Given the description of an element on the screen output the (x, y) to click on. 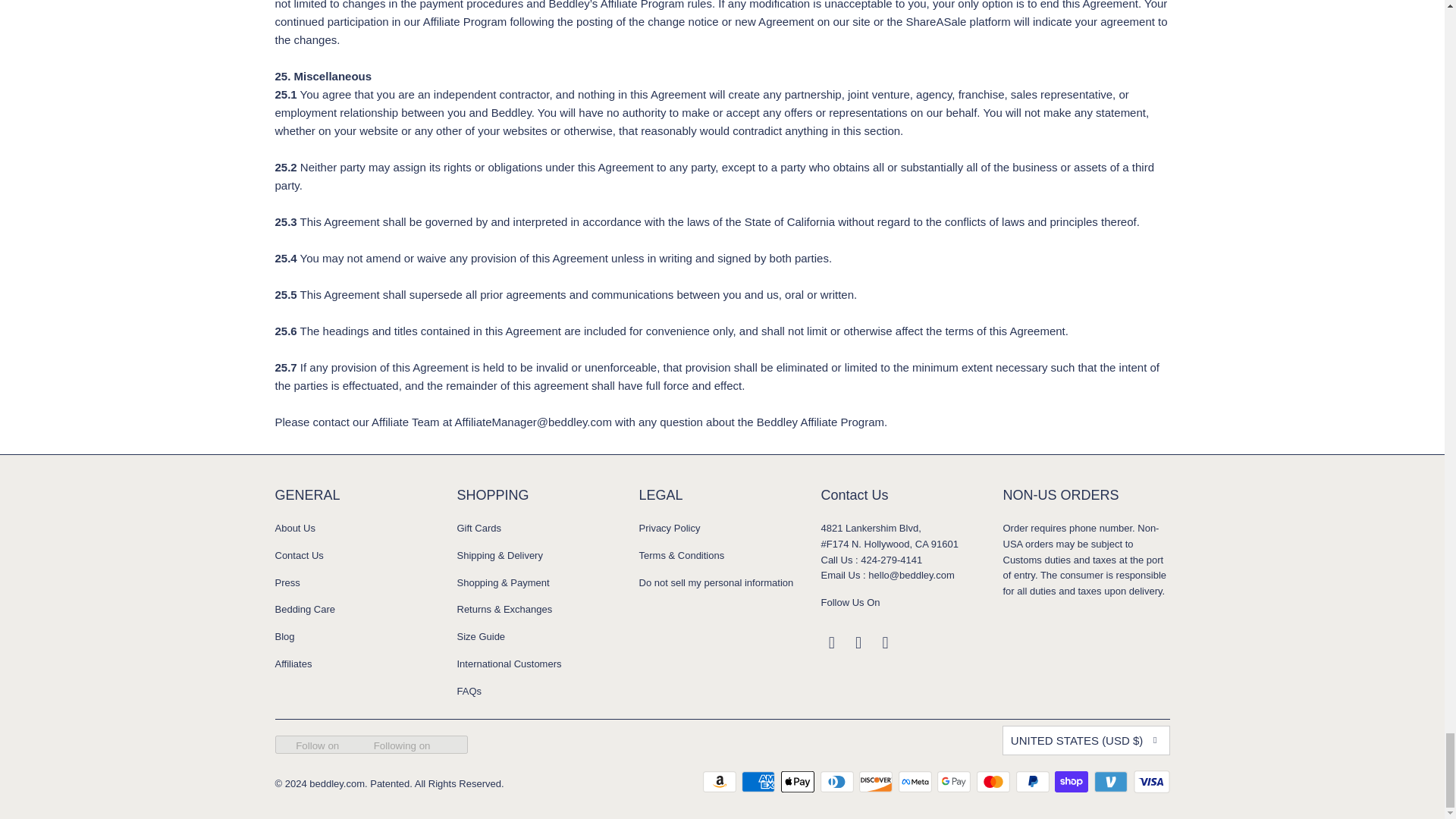
American Express (759, 781)
PayPal (1034, 781)
Apple Pay (798, 781)
beddley.com on Facebook (832, 642)
Shop Pay (1072, 781)
beddley.com on Pinterest (885, 642)
Discover (877, 781)
Google Pay (955, 781)
Mastercard (994, 781)
Diners Club (839, 781)
